Given the description of an element on the screen output the (x, y) to click on. 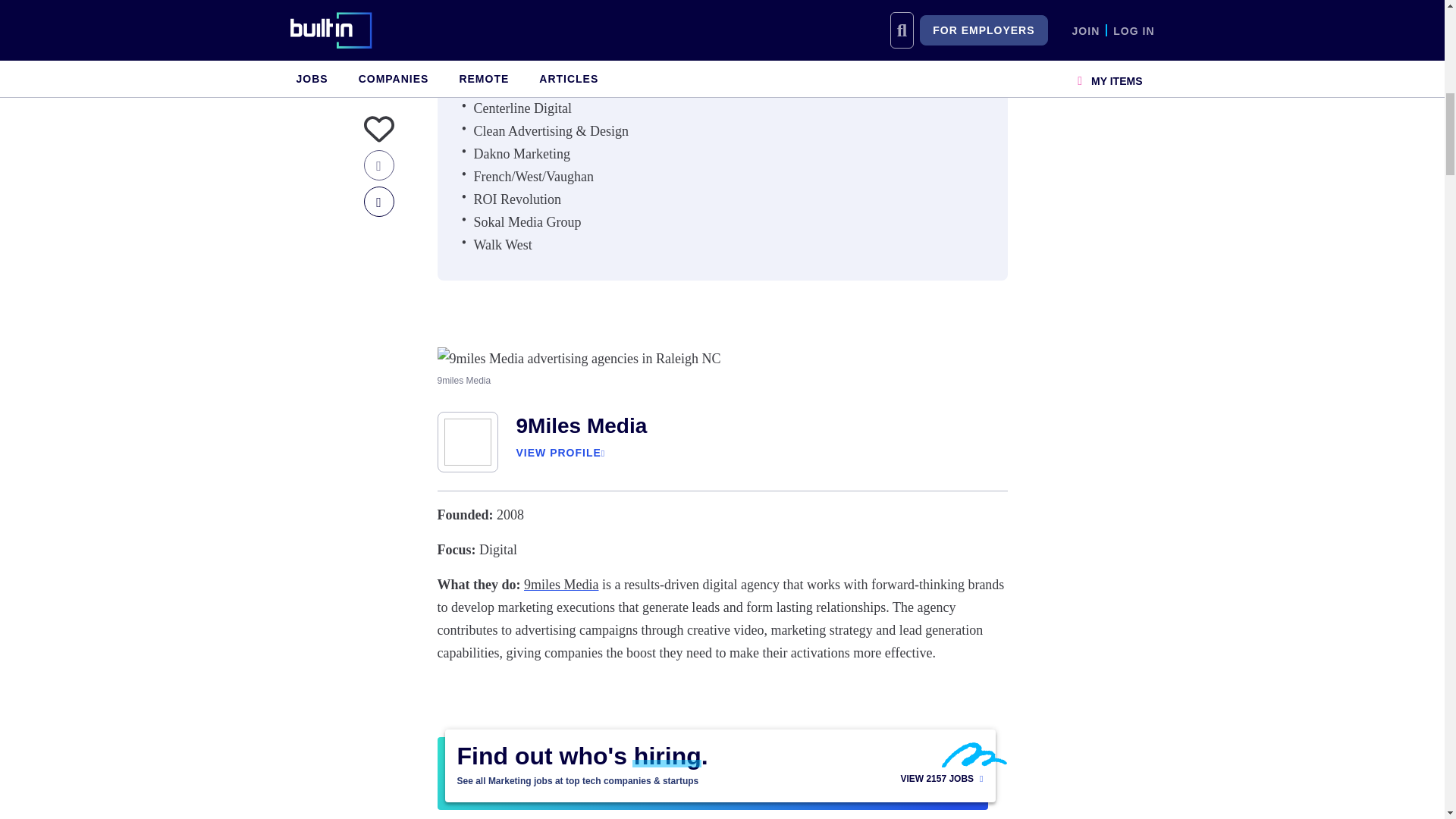
9miles Media (561, 584)
9Miles Media (580, 425)
VIEW PROFILE (557, 452)
